Given the description of an element on the screen output the (x, y) to click on. 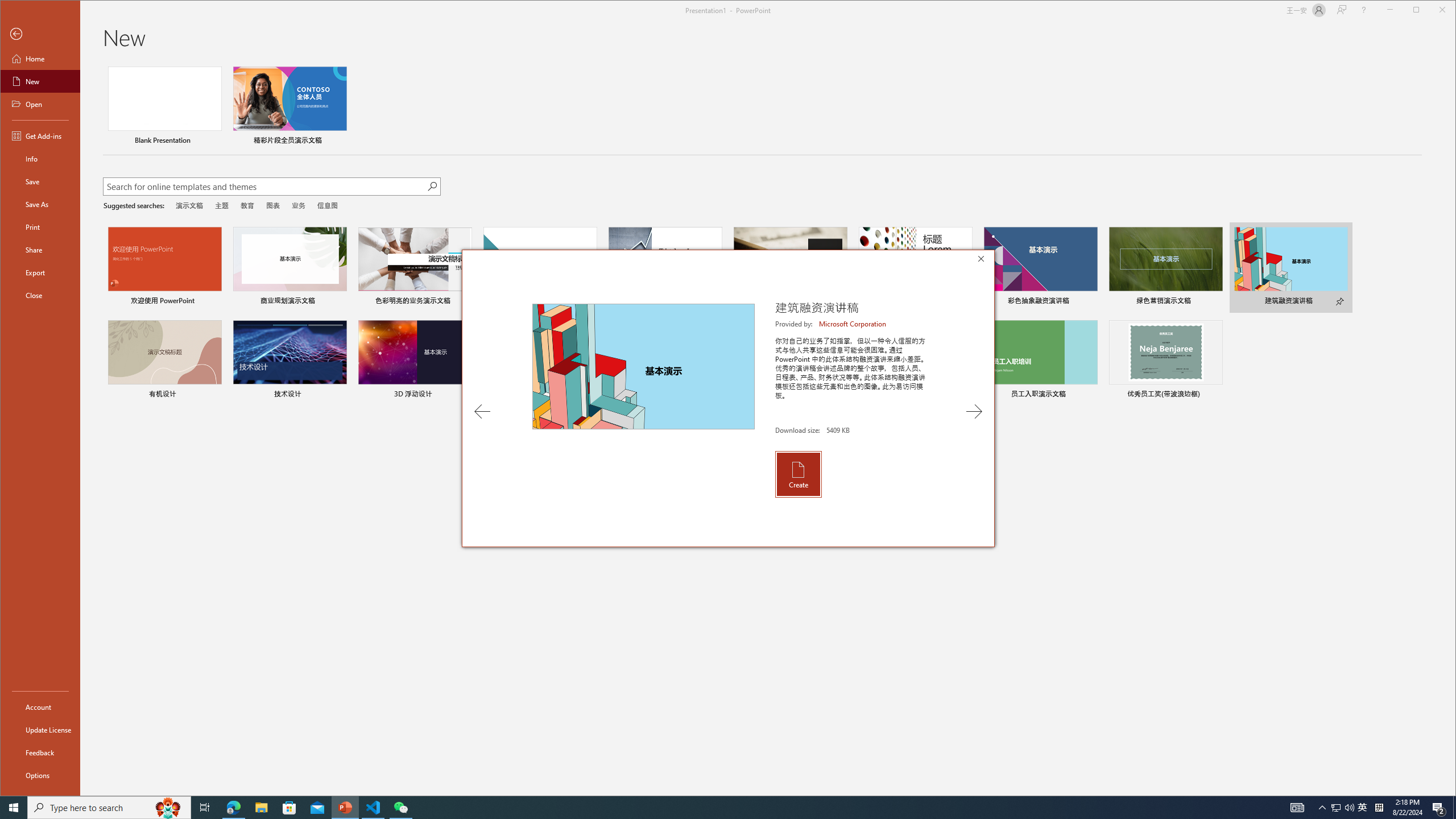
Options (40, 775)
Next Template (974, 411)
Create (797, 474)
Blank Presentation (164, 107)
